Given the description of an element on the screen output the (x, y) to click on. 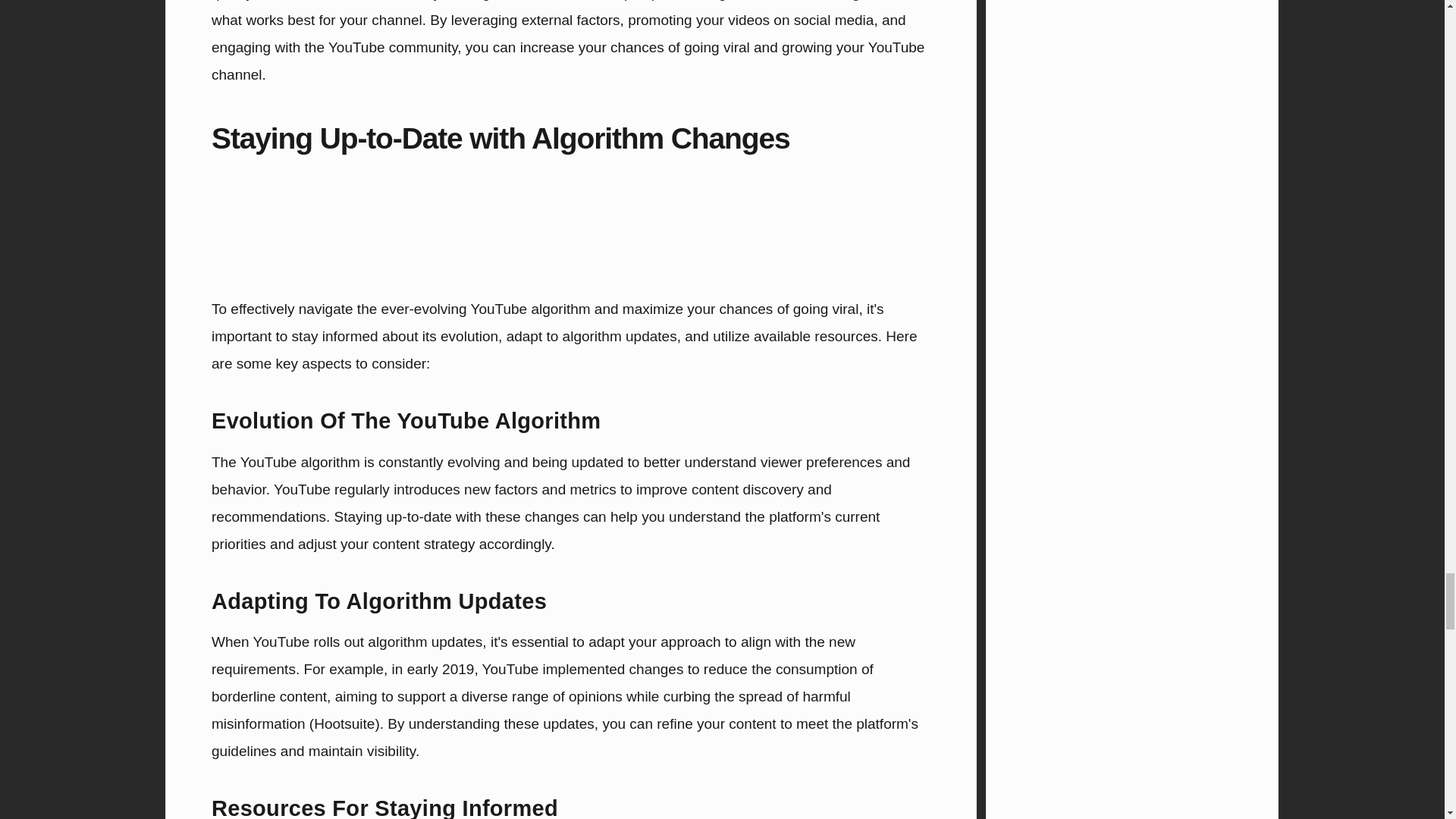
Hootsuite (344, 723)
YouTube algorithm (529, 308)
YouTube algorithm (299, 462)
